Given the description of an element on the screen output the (x, y) to click on. 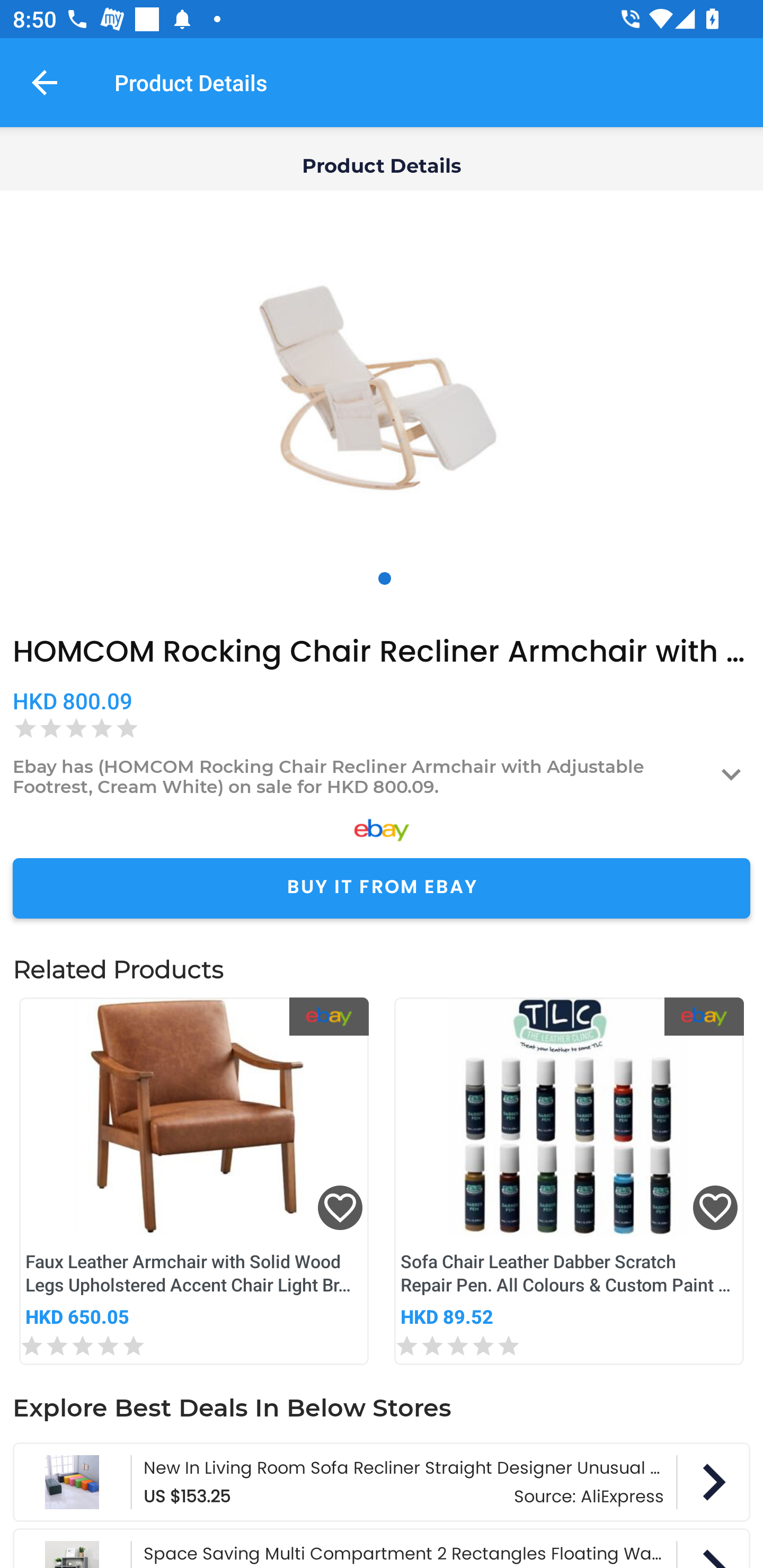
Navigate up (44, 82)
BUY IT FROM EBAY (381, 888)
